Given the description of an element on the screen output the (x, y) to click on. 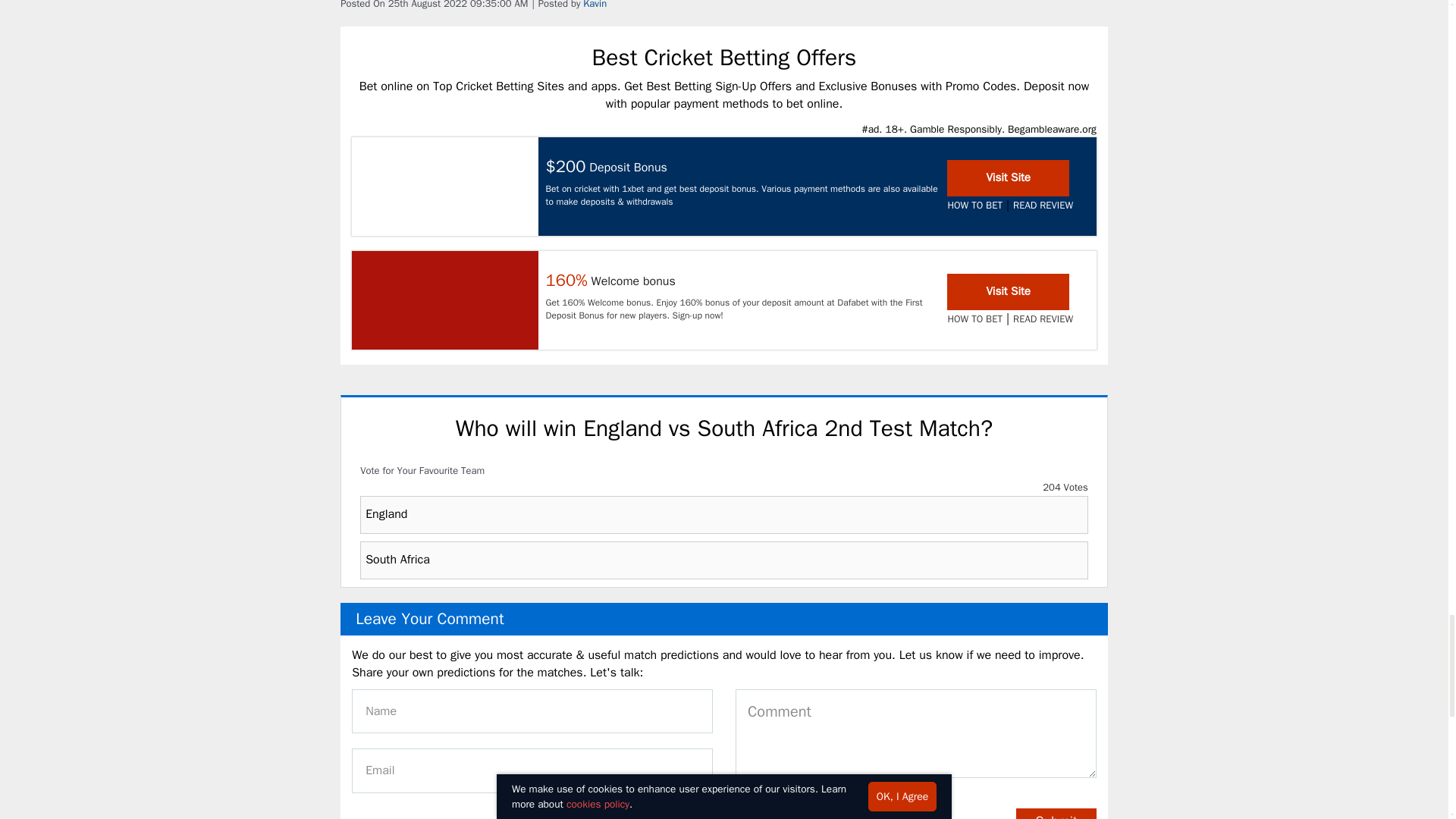
Dafabet (445, 300)
1xbet (445, 186)
Submit (1056, 813)
